Given the description of an element on the screen output the (x, y) to click on. 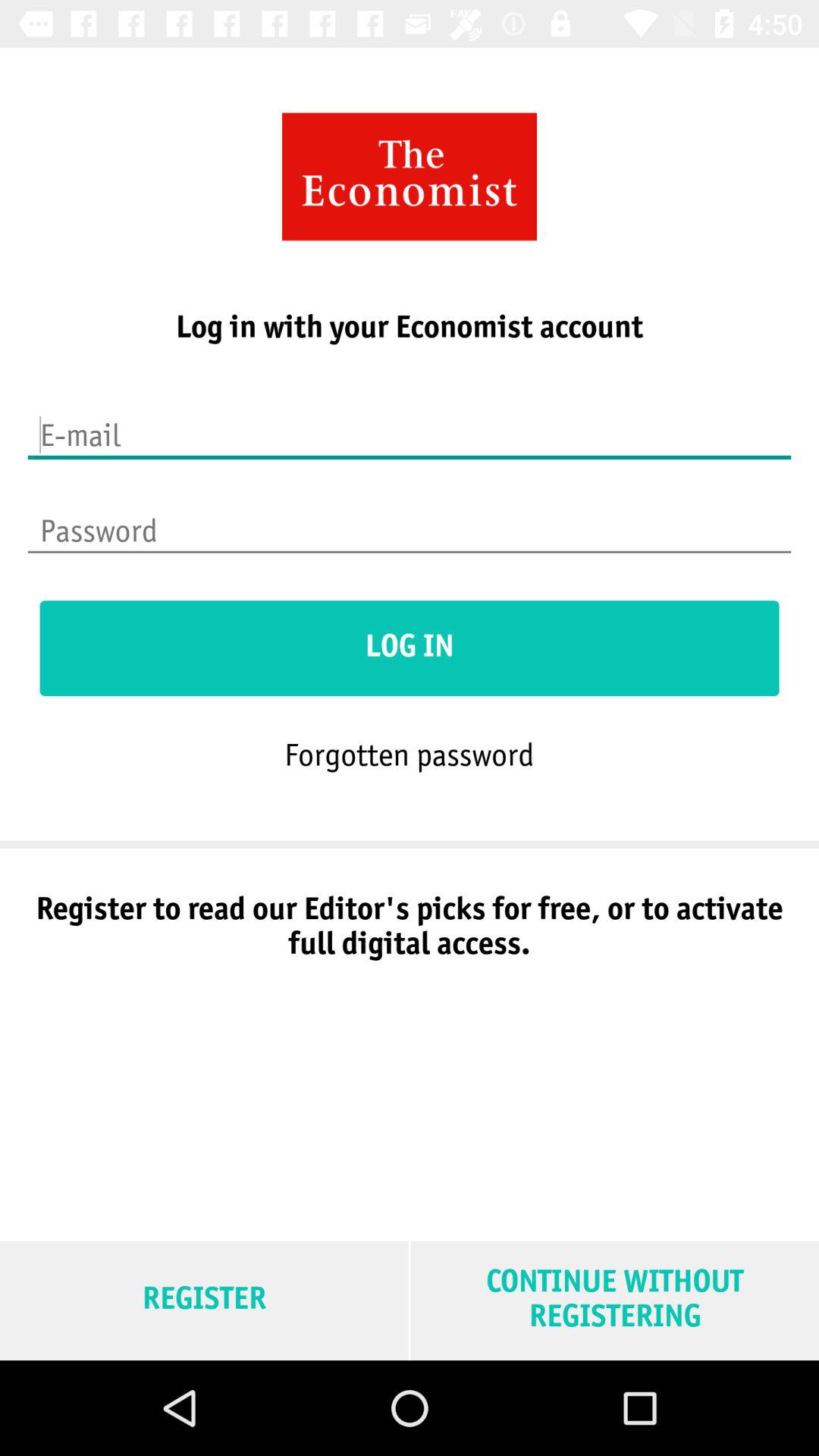
turn off continue without registering item (614, 1300)
